Given the description of an element on the screen output the (x, y) to click on. 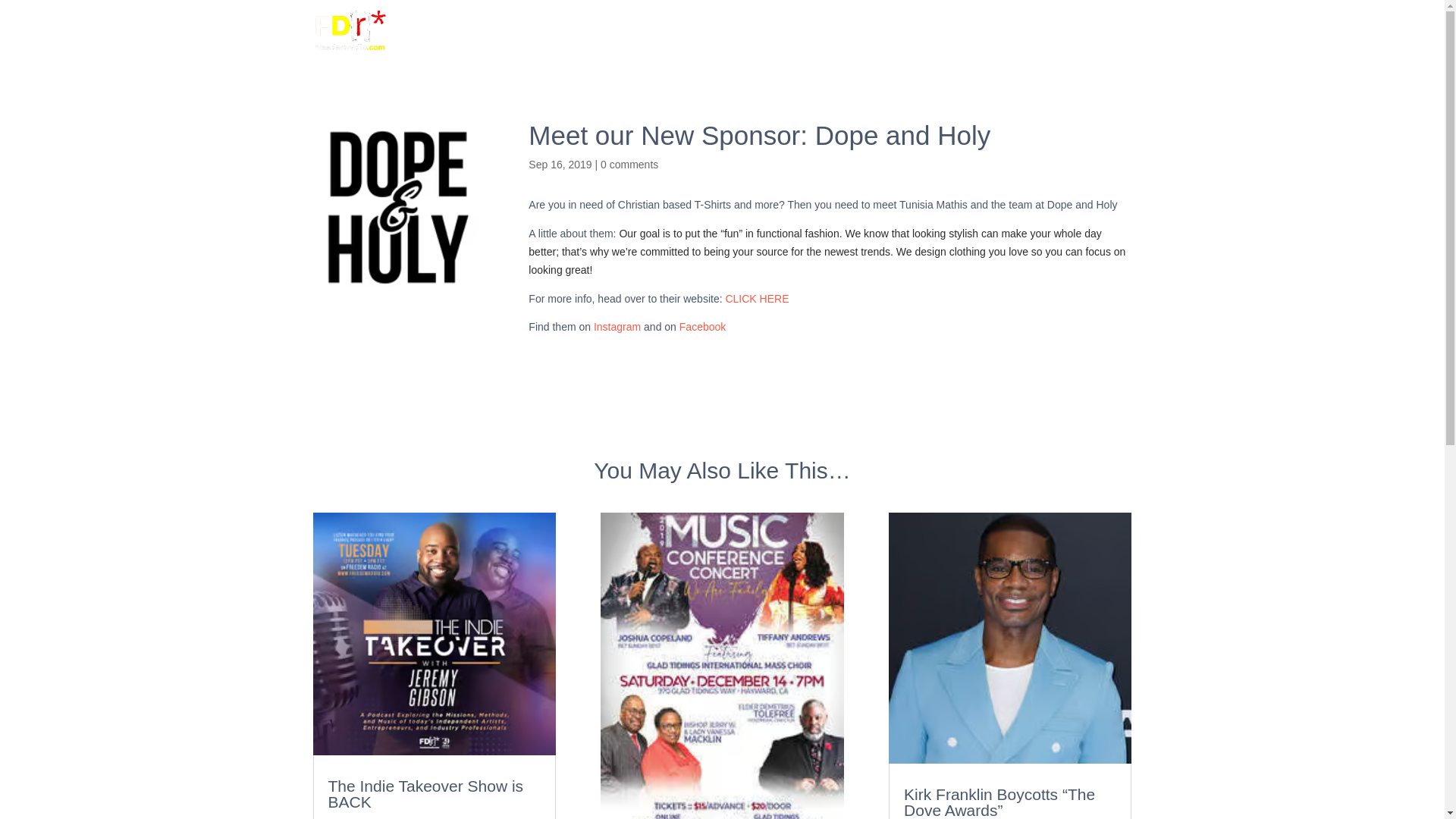
Instagram (617, 326)
FREEDEM GEAR (1030, 42)
FDR NEWS (933, 42)
LISTEN (853, 42)
0 comments (628, 164)
CLICK HERE (757, 298)
The Indie Takeover Show is BACK (424, 793)
ABOUT (775, 42)
Facebook (702, 326)
img-2112 (398, 207)
